Given the description of an element on the screen output the (x, y) to click on. 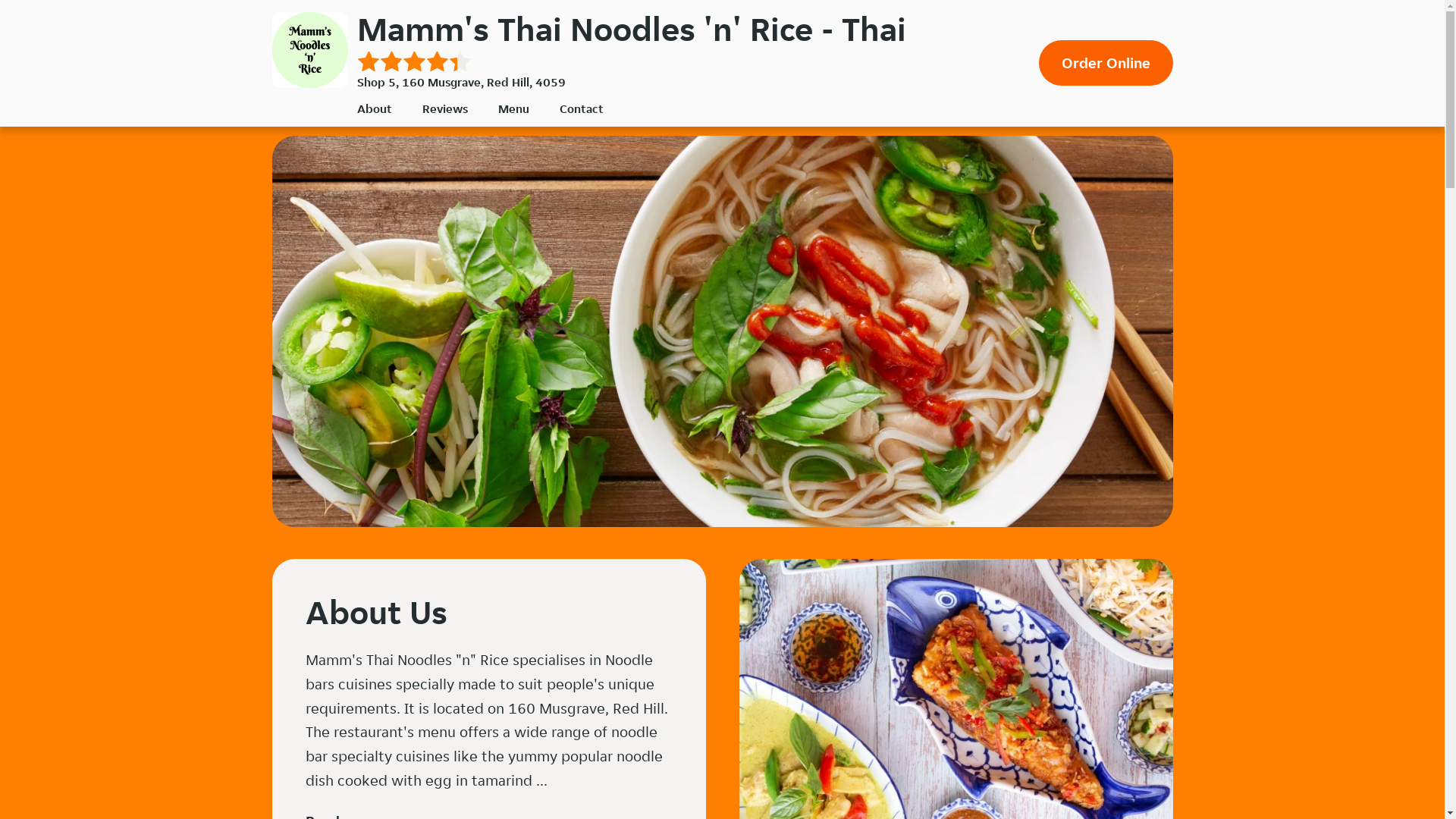
Reviews Element type: text (444, 108)
About Element type: text (373, 108)
Order Online Element type: text (1105, 62)
Contact Element type: text (581, 108)
Mamm's Thai Noodles 'n' Rice Element type: hover (309, 49)
Menu Element type: text (512, 108)
